Given the description of an element on the screen output the (x, y) to click on. 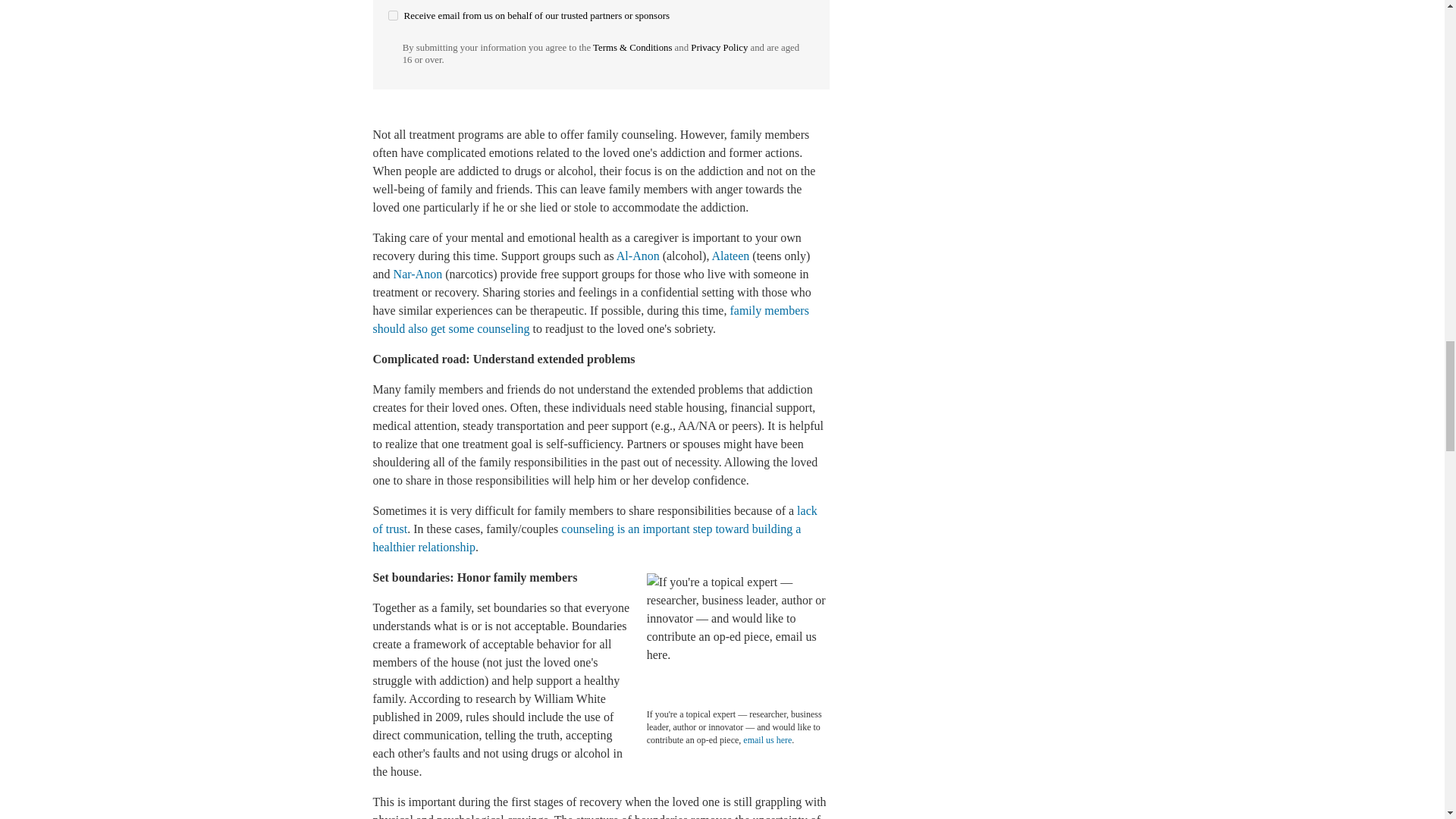
on (392, 15)
